Given the description of an element on the screen output the (x, y) to click on. 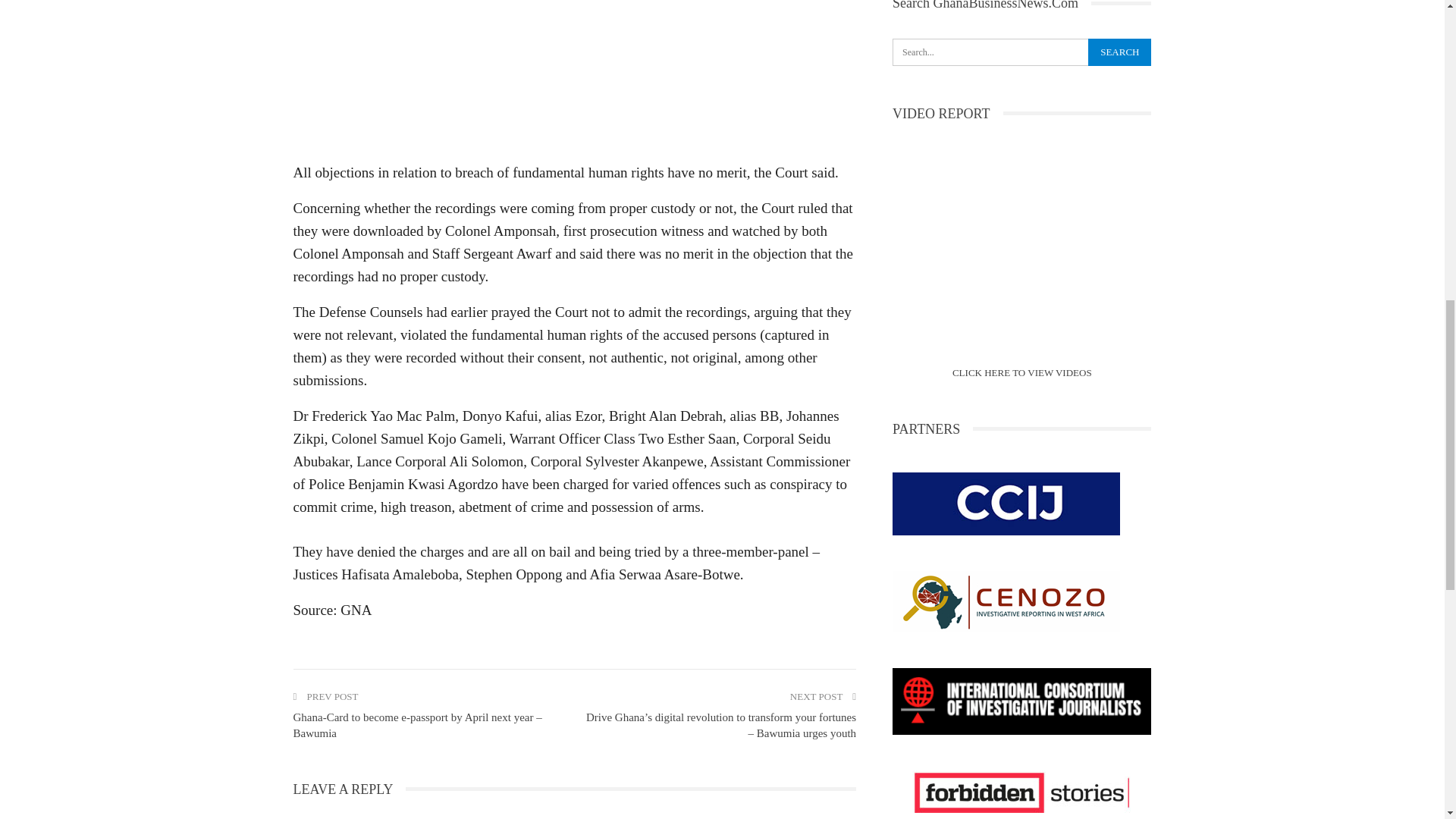
Search (1119, 52)
Search (1119, 52)
Advertisement (574, 76)
